Given the description of an element on the screen output the (x, y) to click on. 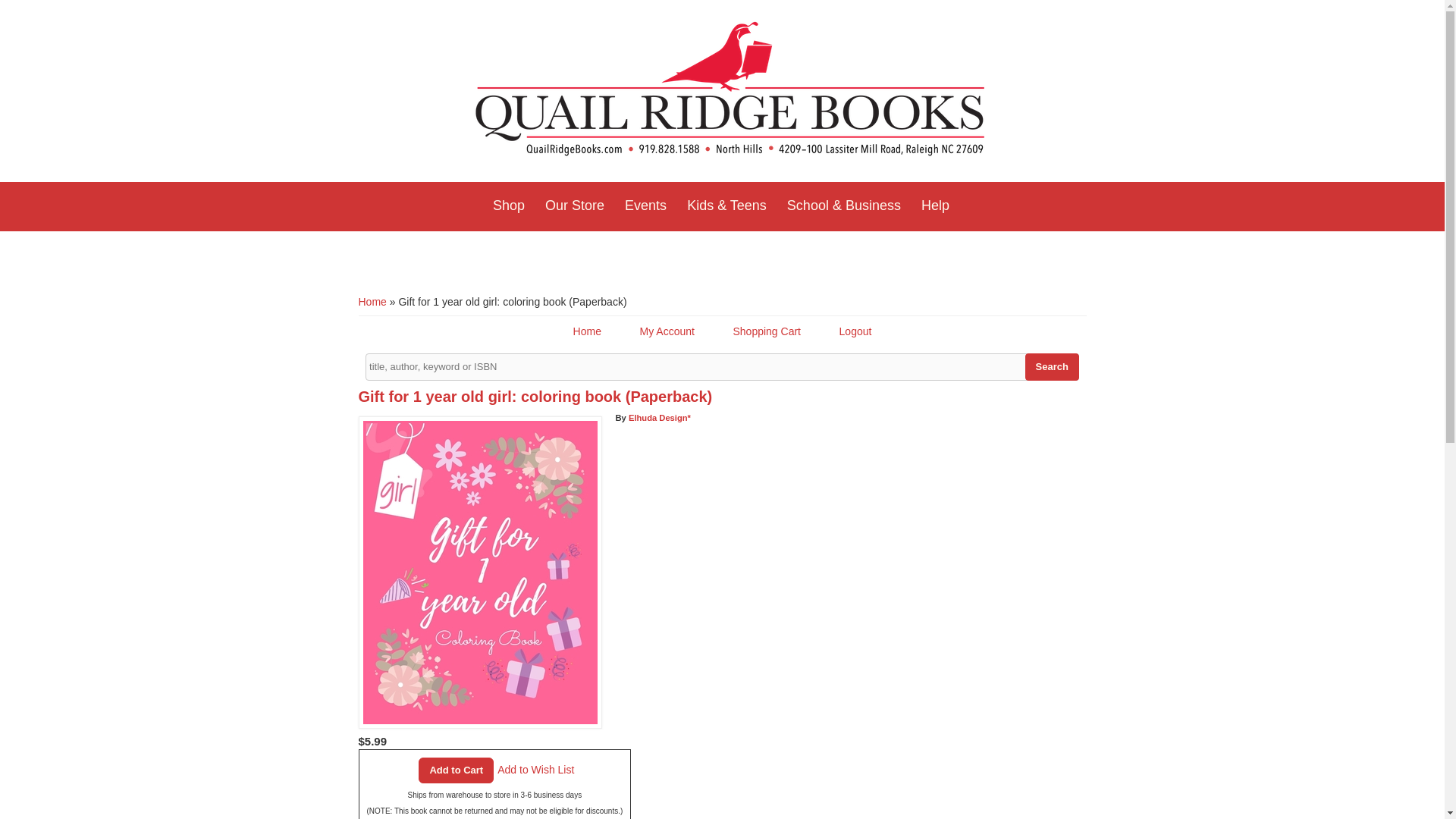
Search (1051, 366)
Events (645, 205)
Our Store (573, 205)
Shop (508, 205)
Help (935, 205)
Add to Cart (456, 769)
Home (729, 90)
